Given the description of an element on the screen output the (x, y) to click on. 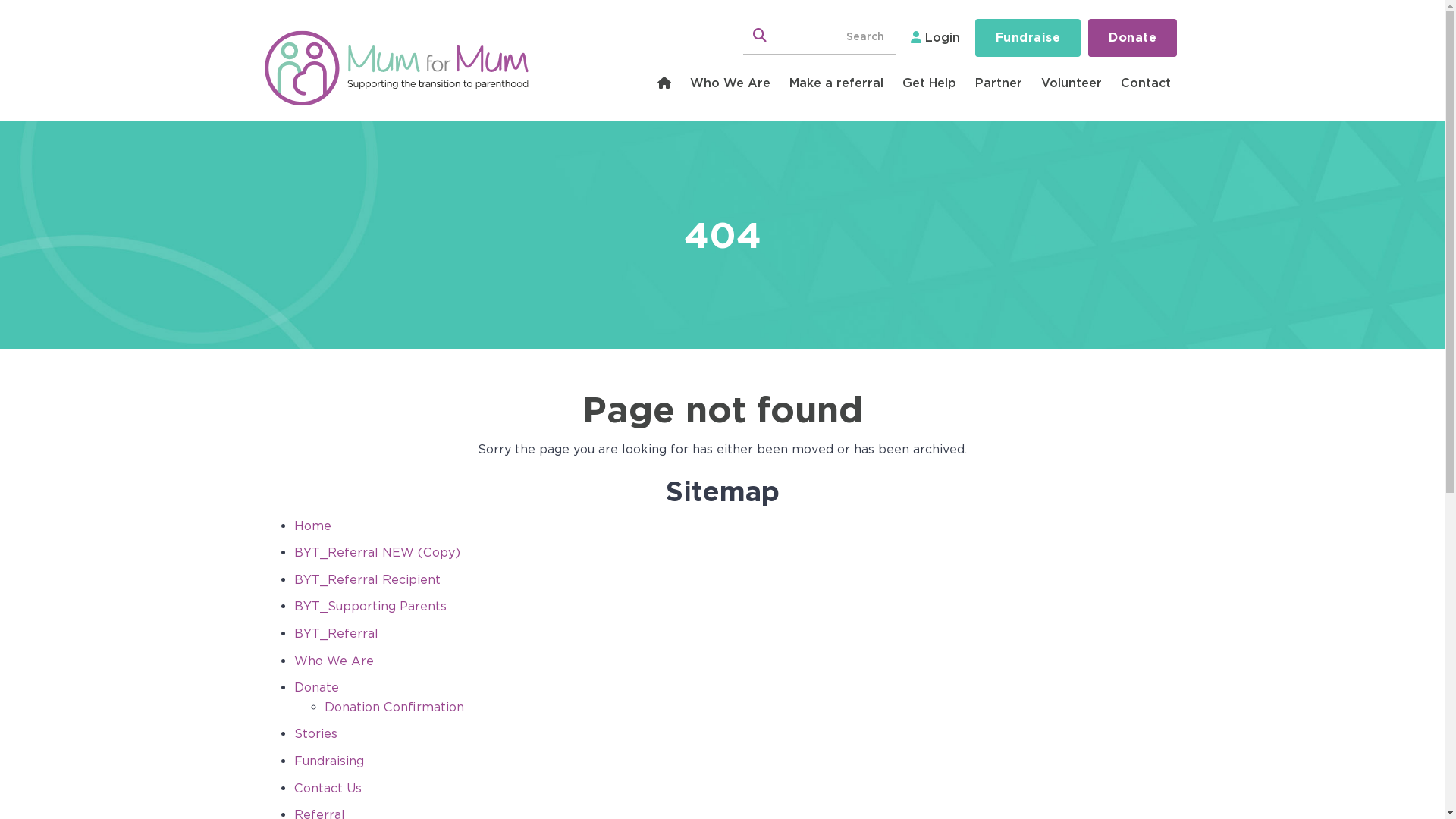
Fundraise Element type: text (1028, 37)
Donation Confirmation Element type: text (394, 706)
Who We Are Element type: text (333, 660)
BYT_Referral Element type: text (336, 633)
BYT_Referral Recipient Element type: text (367, 579)
BYT_Supporting Parents Element type: text (370, 606)
Stories Element type: text (315, 733)
Home Element type: text (312, 525)
Donate Element type: text (1132, 37)
Make a referral Element type: text (836, 83)
BYT_Referral NEW (Copy) Element type: text (377, 552)
Get Help Element type: text (929, 83)
Login Element type: text (935, 37)
Partner Element type: text (999, 83)
Contact Us Element type: text (327, 788)
Volunteer Element type: text (1071, 83)
Donate Element type: text (316, 687)
Fundraising Element type: text (329, 760)
Who We Are Element type: text (730, 83)
Contact Element type: text (1145, 83)
